Given the description of an element on the screen output the (x, y) to click on. 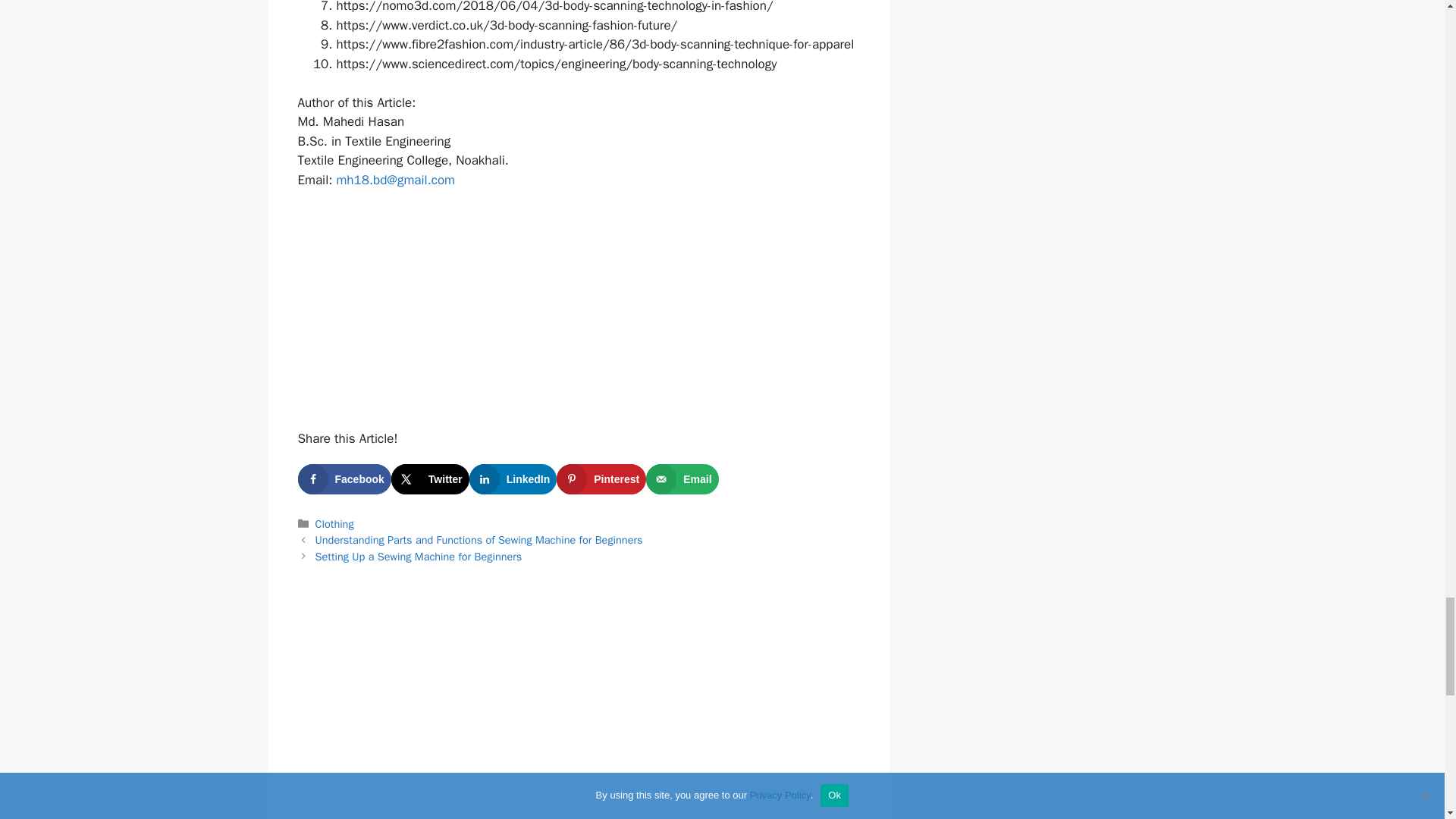
Send over email (681, 479)
LinkedIn (512, 479)
Facebook (343, 479)
Email (681, 479)
Share on Facebook (343, 479)
Pinterest (601, 479)
Save to Pinterest (601, 479)
Clothing (334, 523)
Share on LinkedIn (512, 479)
Share on X (429, 479)
Twitter (429, 479)
Setting Up a Sewing Machine for Beginners (418, 556)
